Given the description of an element on the screen output the (x, y) to click on. 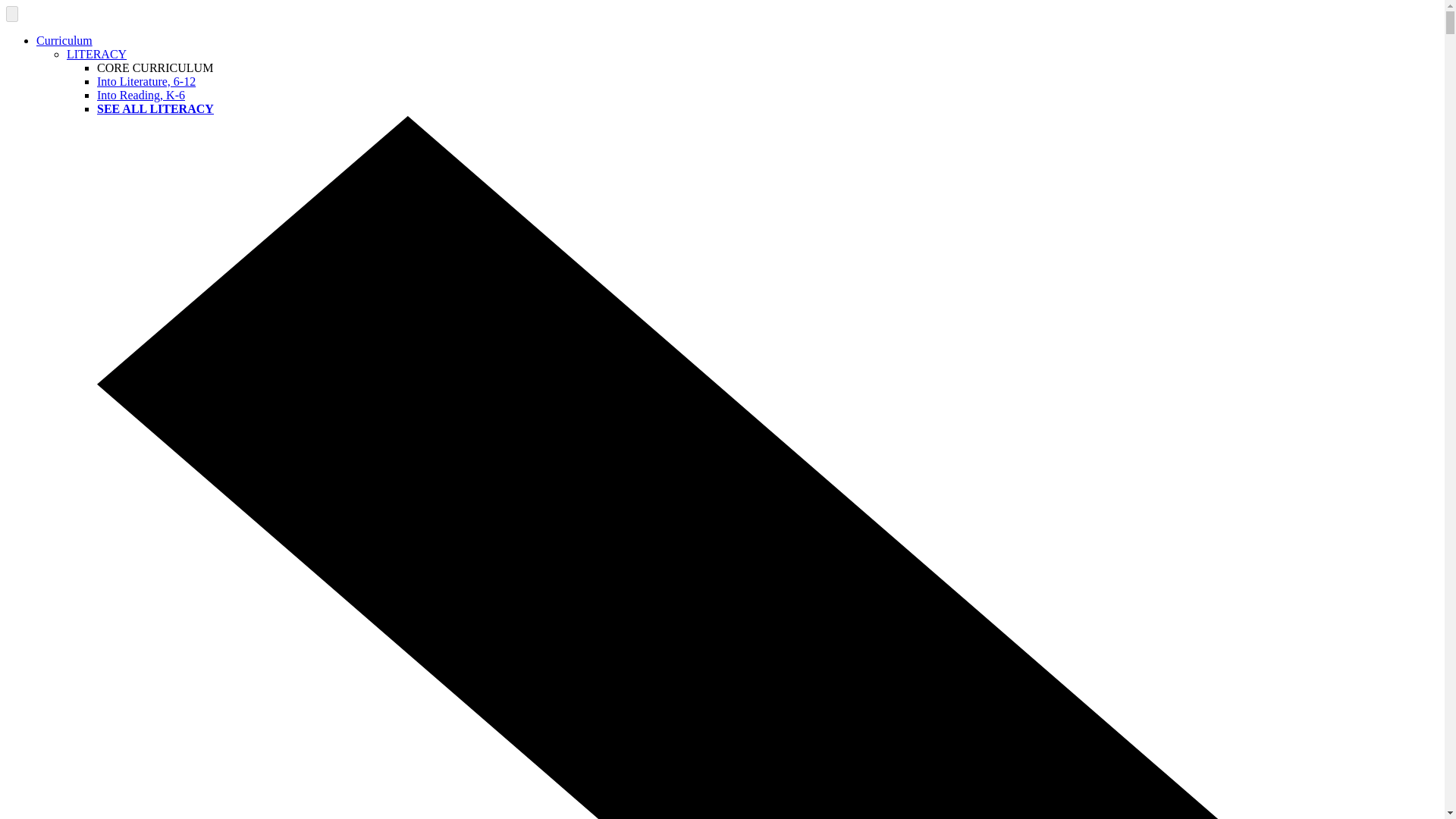
LITERACY (96, 53)
Into Literature, 6-12 (146, 81)
Into Reading, K-6 (140, 94)
Into Reading, K-6 (140, 94)
Close (11, 13)
Into Literature, 6-12 (146, 81)
Curriculum (64, 40)
